Given the description of an element on the screen output the (x, y) to click on. 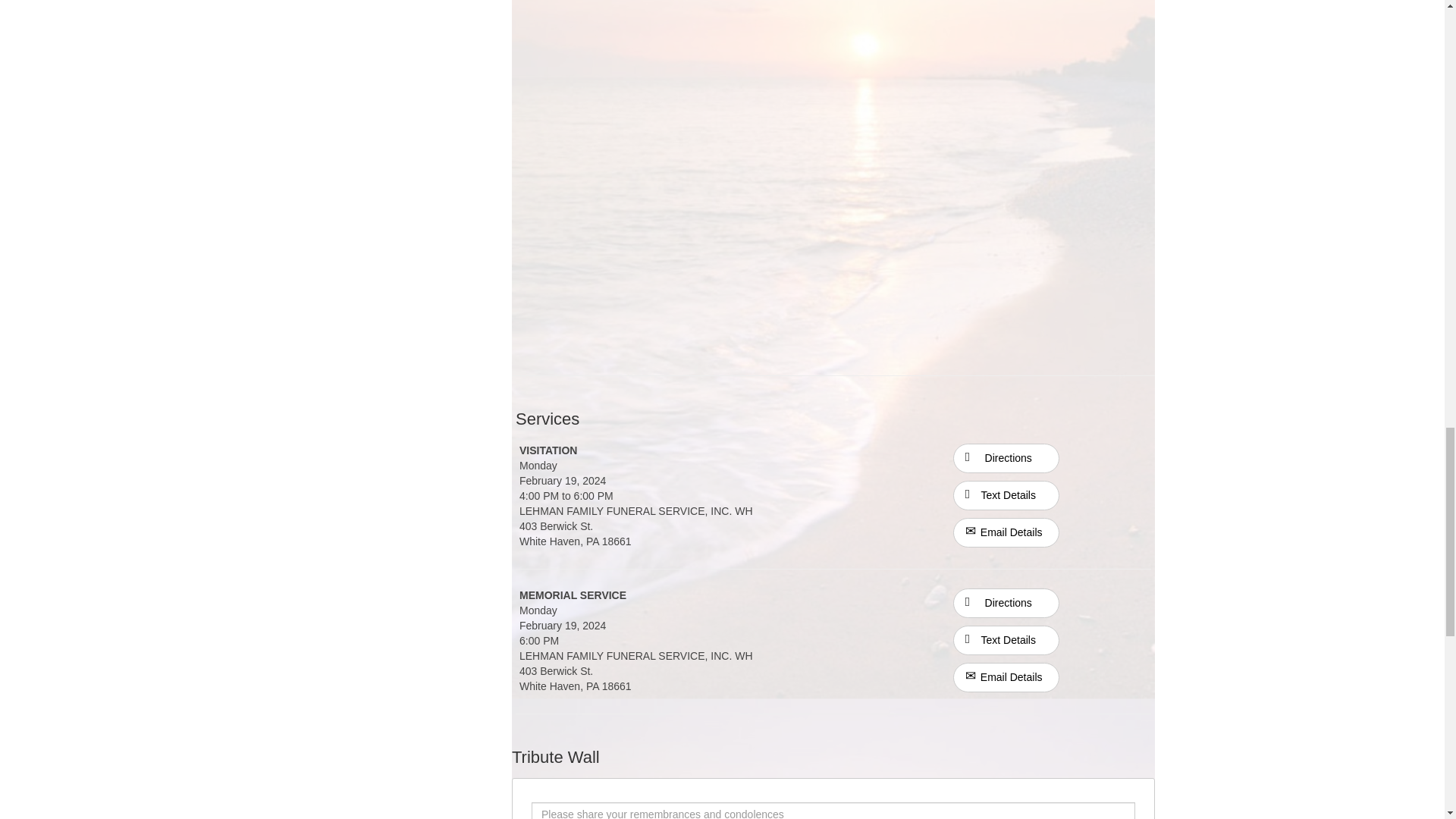
Directions (1006, 603)
Directions (1006, 457)
Email Details (1006, 677)
Email Details (1006, 532)
Text Details (1006, 495)
Text Details (1006, 640)
Directions (1006, 458)
Directions (1006, 602)
